Given the description of an element on the screen output the (x, y) to click on. 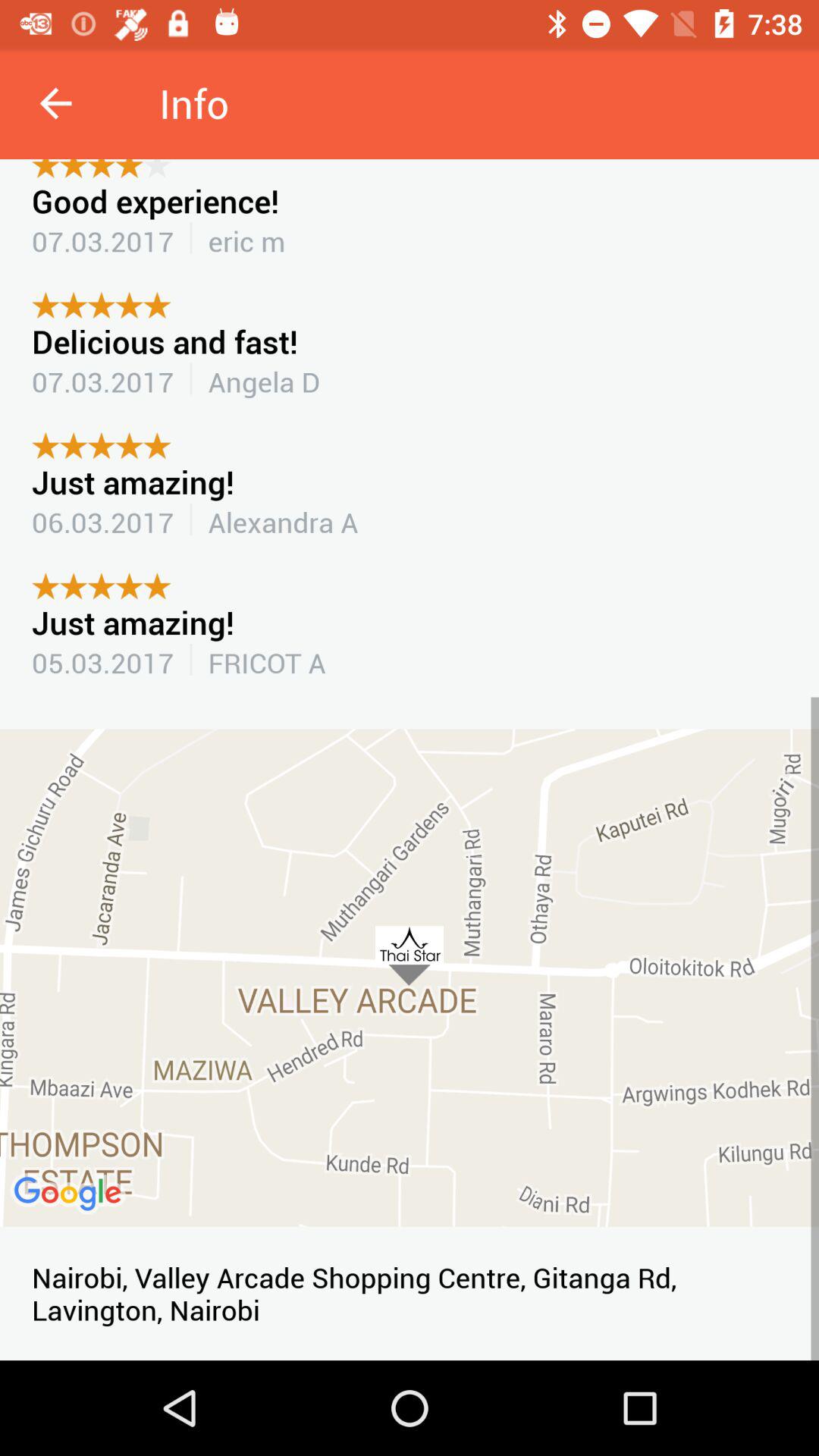
choose item below 05.03.2017 (409, 977)
